Given the description of an element on the screen output the (x, y) to click on. 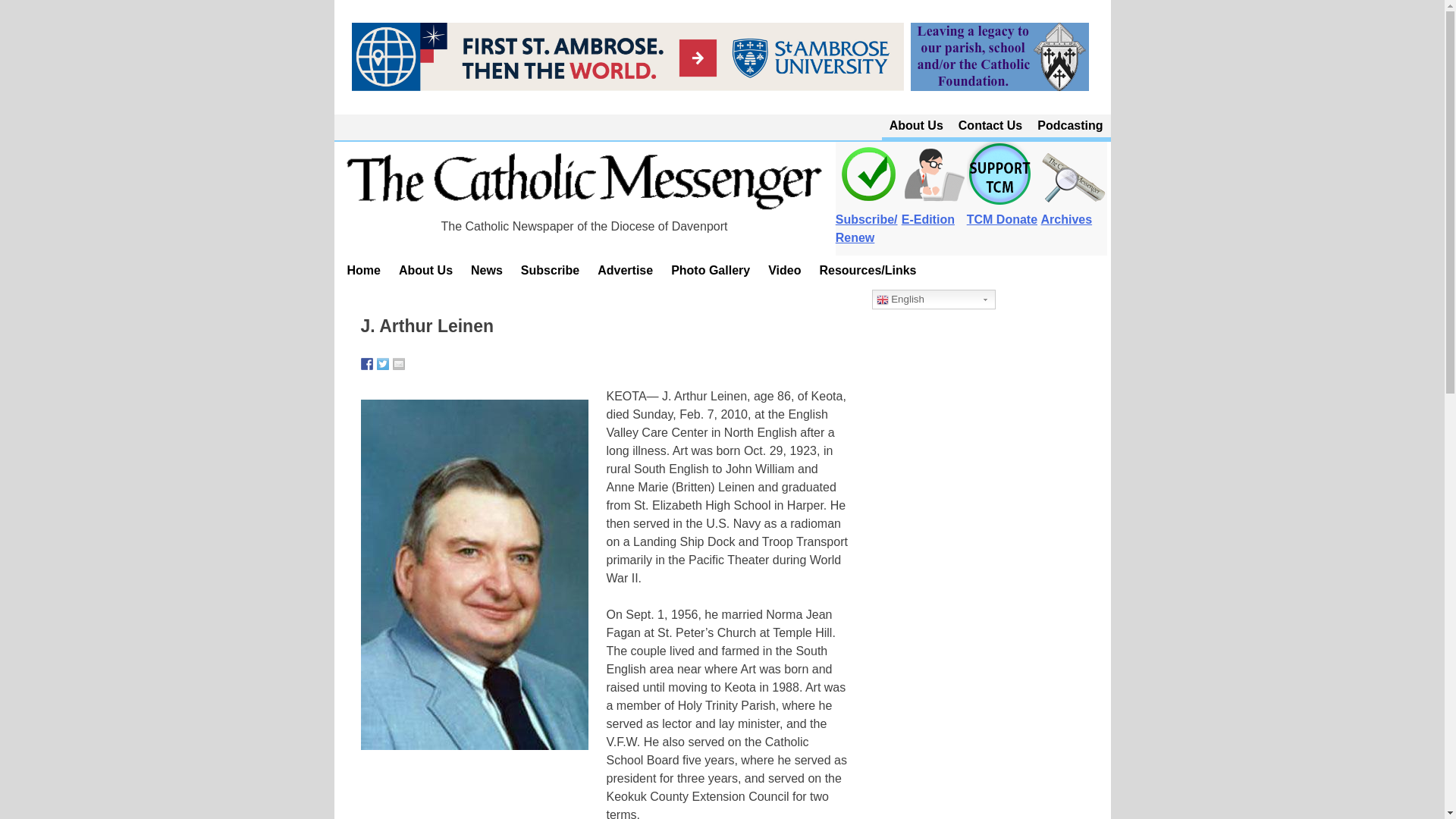
Share by email (398, 363)
E-Edition (933, 210)
TCM Donate (1001, 210)
Contact Us (989, 125)
Advertise (625, 270)
Podcasting (1069, 125)
About Us (425, 270)
About Us (916, 125)
Archives (1073, 210)
Subscribe (549, 270)
Share on Facebook (366, 363)
News (487, 270)
Share on Twitter (381, 363)
Home (363, 270)
